Given the description of an element on the screen output the (x, y) to click on. 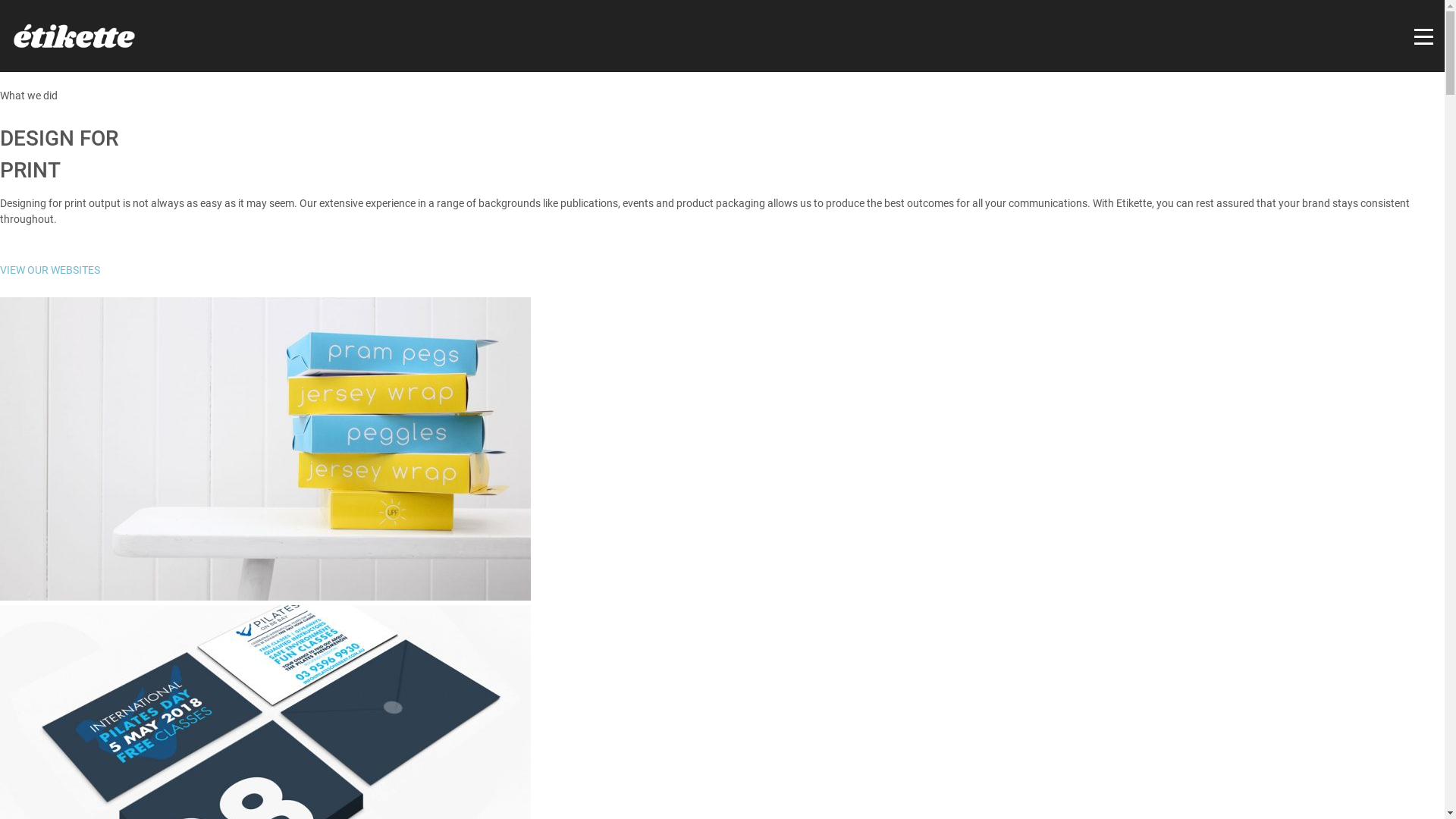
Home Element type: text (983, 780)
design@etikette.com.au Element type: text (352, 675)
VIEW OUR WEBSITES Element type: text (50, 269)
Facebook Element type: hover (286, 696)
Portfolio Element type: text (1034, 780)
Instagram Element type: hover (309, 696)
Services Element type: text (1091, 780)
Contact Element type: text (1143, 780)
